Given the description of an element on the screen output the (x, y) to click on. 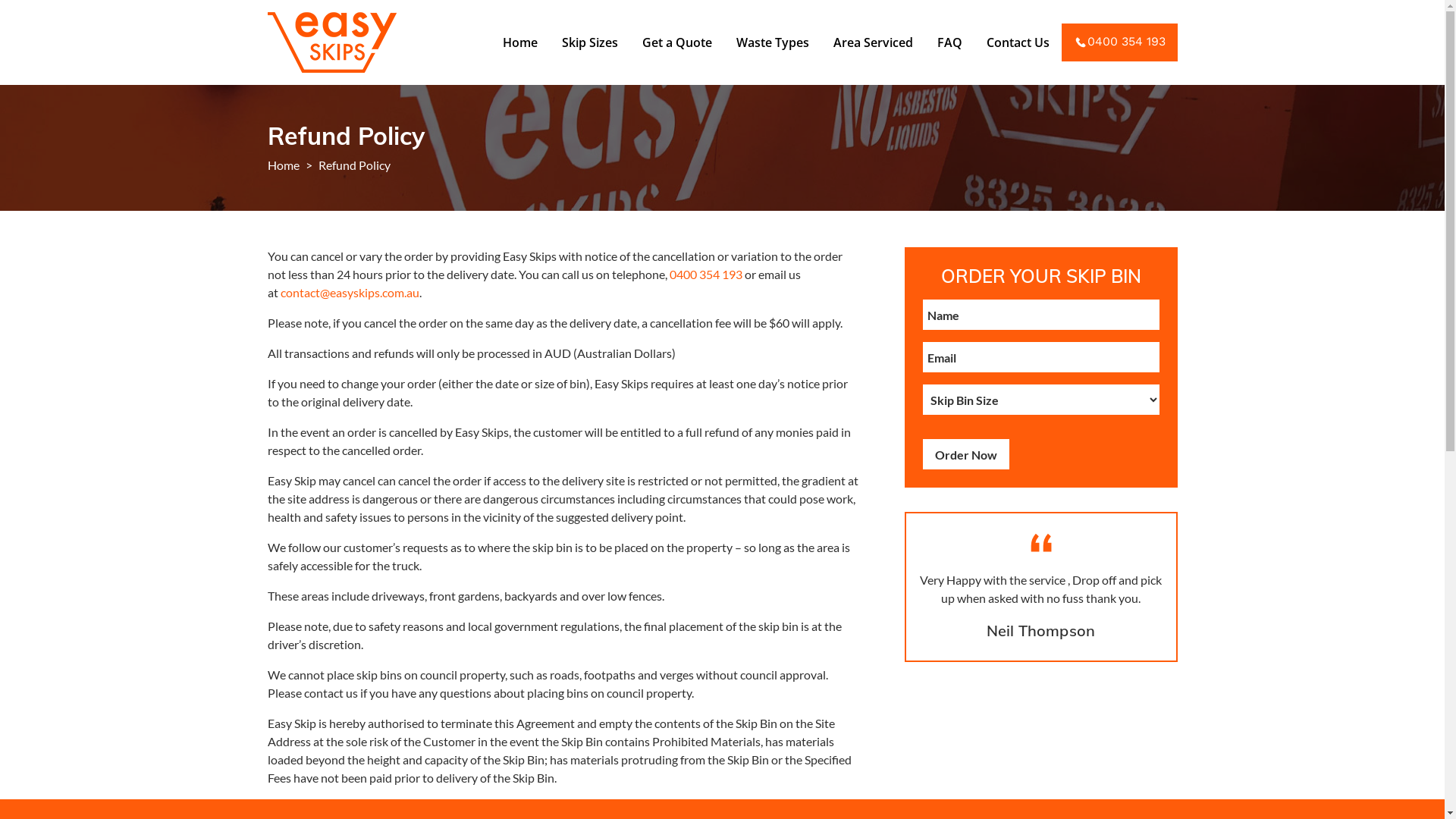
Order Now Element type: text (965, 454)
Contact Us Element type: text (1016, 42)
Get a Quote Element type: text (676, 42)
Area Serviced Element type: text (872, 42)
contact@easyskips.com.au Element type: text (349, 292)
0400 354 193 Element type: text (704, 273)
Home Element type: text (282, 164)
Home Element type: text (519, 42)
Waste Types Element type: text (771, 42)
FAQ Element type: text (949, 42)
Skip Sizes Element type: text (589, 42)
0400 354 193 Element type: text (1119, 42)
